Given the description of an element on the screen output the (x, y) to click on. 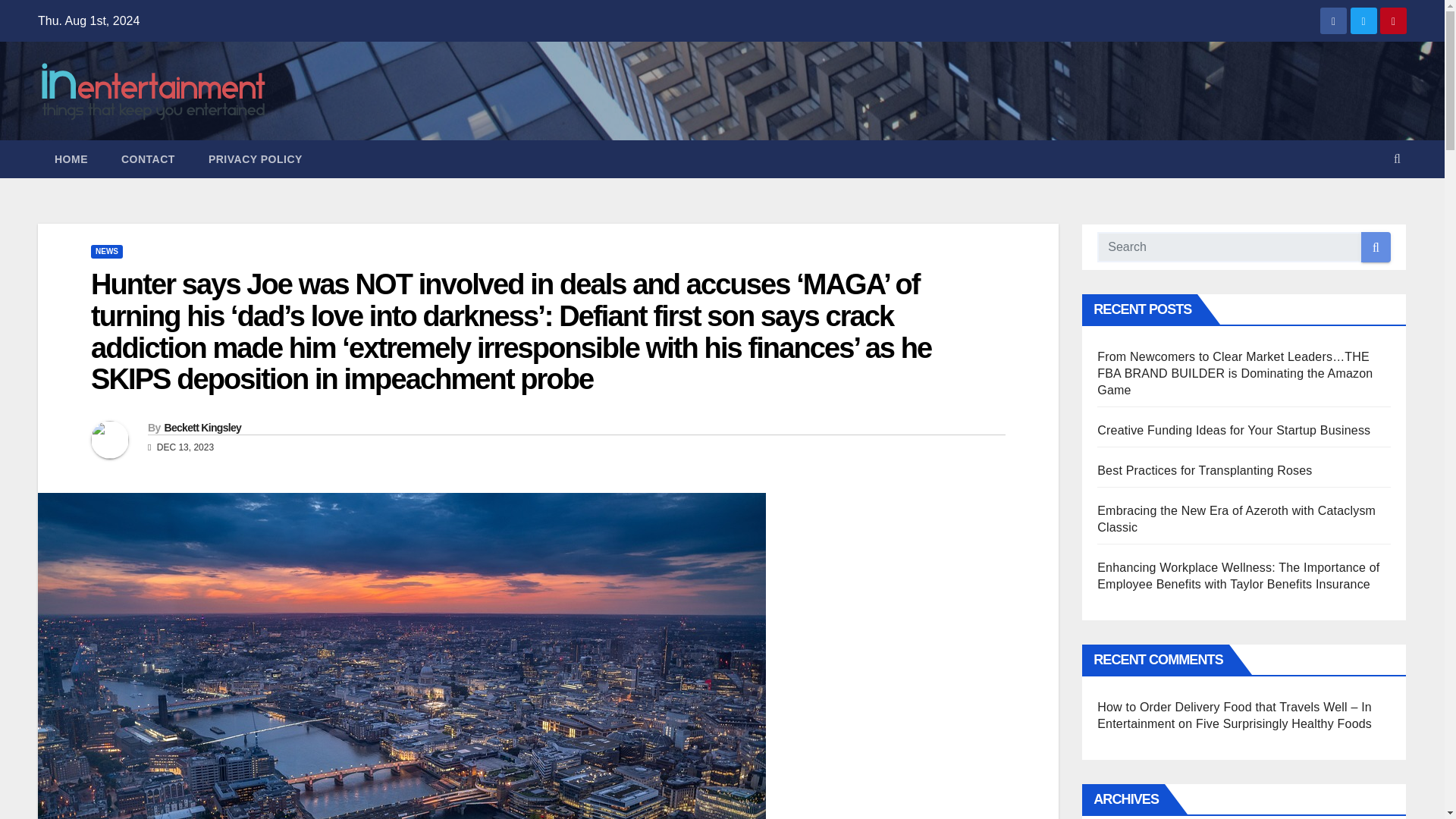
NEWS (106, 251)
Beckett Kingsley (202, 427)
Creative Funding Ideas for Your Startup Business (1233, 430)
HOME (70, 159)
PRIVACY POLICY (255, 159)
Best Practices for Transplanting Roses (1204, 470)
Embracing the New Era of Azeroth with Cataclysm Classic (1236, 518)
Home (70, 159)
CONTACT (148, 159)
